Given the description of an element on the screen output the (x, y) to click on. 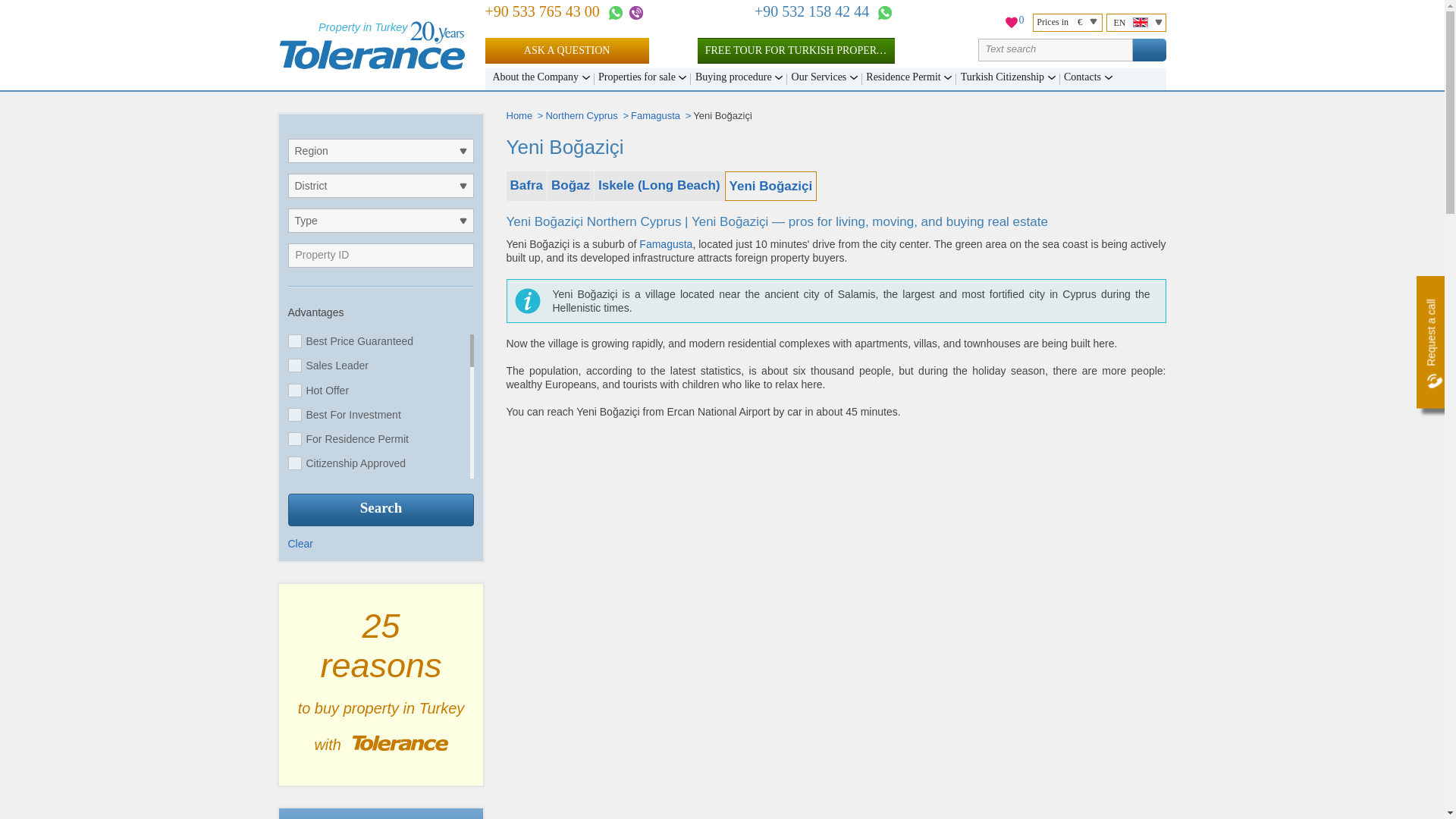
Properties for sale (641, 78)
Tolerance (371, 45)
0 (1011, 24)
FREE TOUR FOR TURKISH PROPERTY (796, 50)
About the Company (541, 78)
ASK A QUESTION (566, 50)
